Given the description of an element on the screen output the (x, y) to click on. 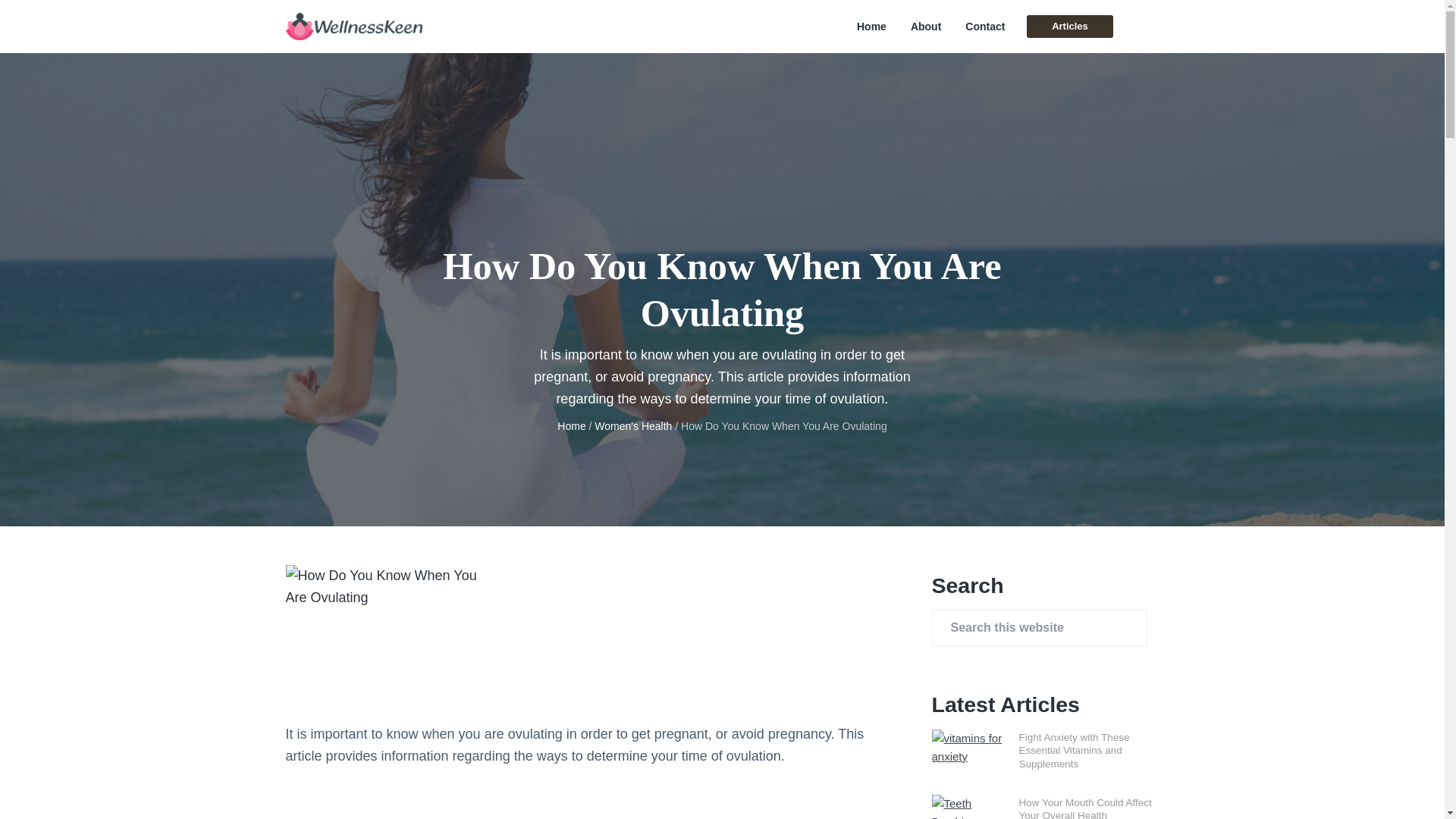
Contact (984, 27)
Articles (1068, 25)
Search (60, 18)
How Your Mouth Could Affect Your Overall Health (1085, 807)
Home (871, 27)
Fight Anxiety with These Essential Vitamins and Supplements (1074, 750)
About (925, 27)
Women's Health (632, 426)
Home (571, 426)
